Given the description of an element on the screen output the (x, y) to click on. 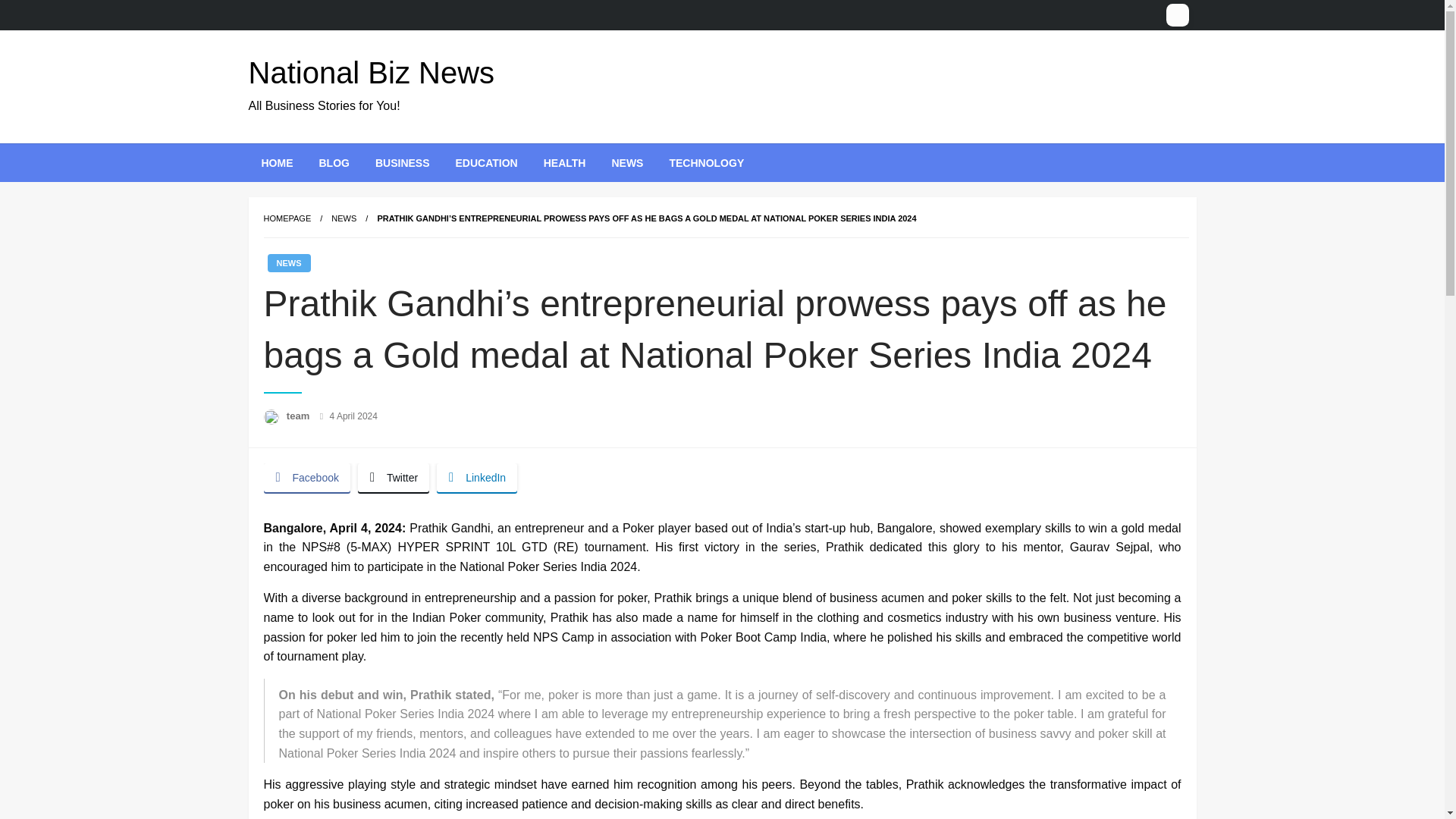
NEWS (288, 262)
team (299, 415)
TECHNOLOGY (706, 162)
BUSINESS (402, 162)
Homepage (287, 217)
team (299, 415)
4 April 2024 (353, 416)
News (343, 217)
Twitter (393, 477)
NEWS (627, 162)
